Given the description of an element on the screen output the (x, y) to click on. 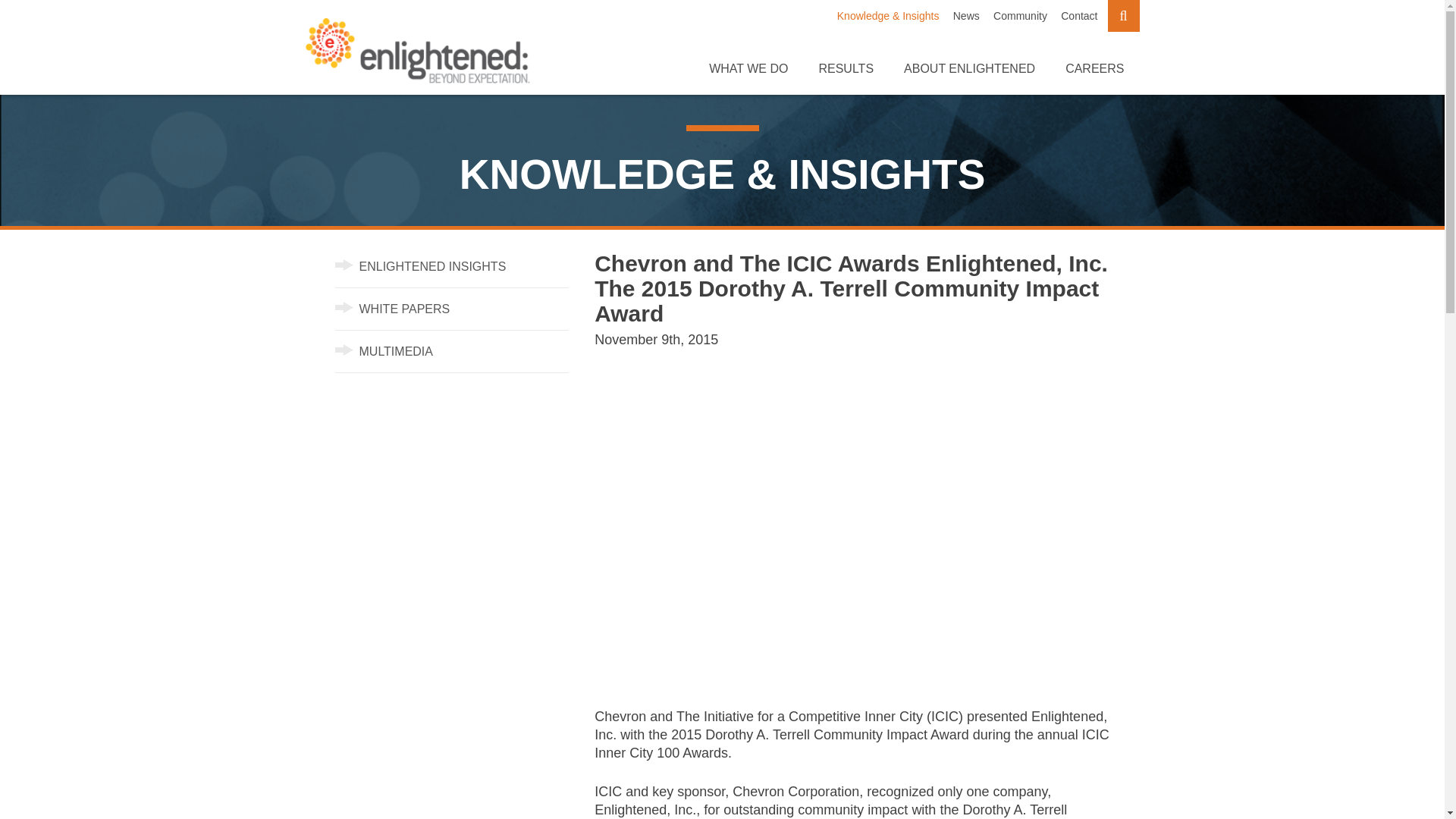
WHAT WE DO (748, 68)
Community (1019, 15)
RESULTS (845, 68)
Contact (1079, 15)
News (966, 15)
CAREERS (1094, 68)
MULTIMEDIA (383, 350)
ABOUT ENLIGHTENED (969, 68)
ENLIGHTENED INSIGHTS (420, 266)
WHITE PAPERS (391, 308)
